Given the description of an element on the screen output the (x, y) to click on. 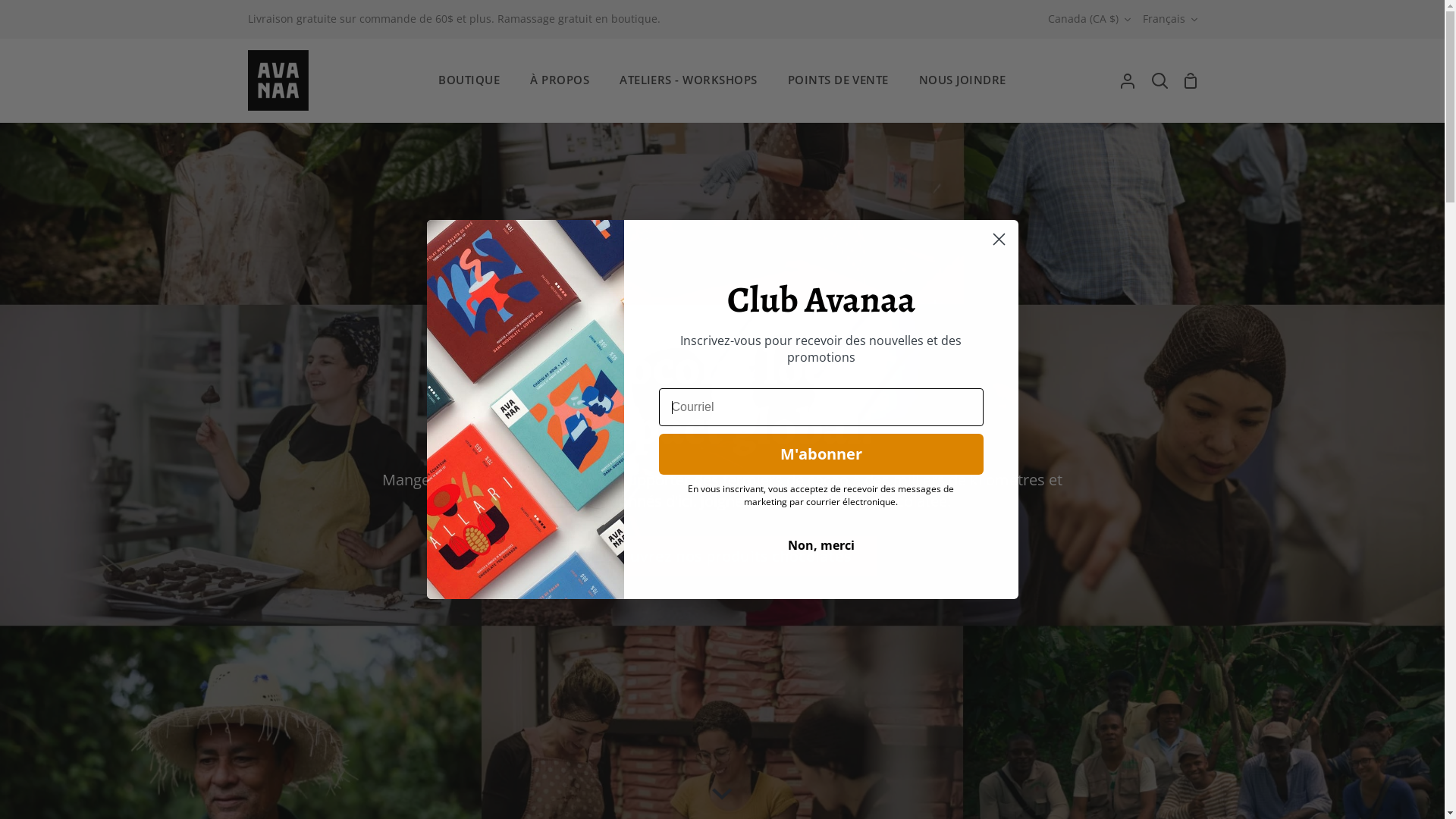
Mon compte Element type: text (1127, 80)
Canada (CA $) Element type: text (1089, 19)
BOUTIQUE Element type: text (468, 80)
M'abonner Element type: text (820, 453)
Non, merci Element type: text (820, 544)
Recherche Element type: text (1159, 80)
POINTS DE VENTE Element type: text (837, 80)
NOUS JOINDRE Element type: text (962, 80)
Submit Element type: text (33, 17)
ATELIERS - WORKSHOPS Element type: text (688, 80)
Panier Element type: text (1190, 80)
